Given the description of an element on the screen output the (x, y) to click on. 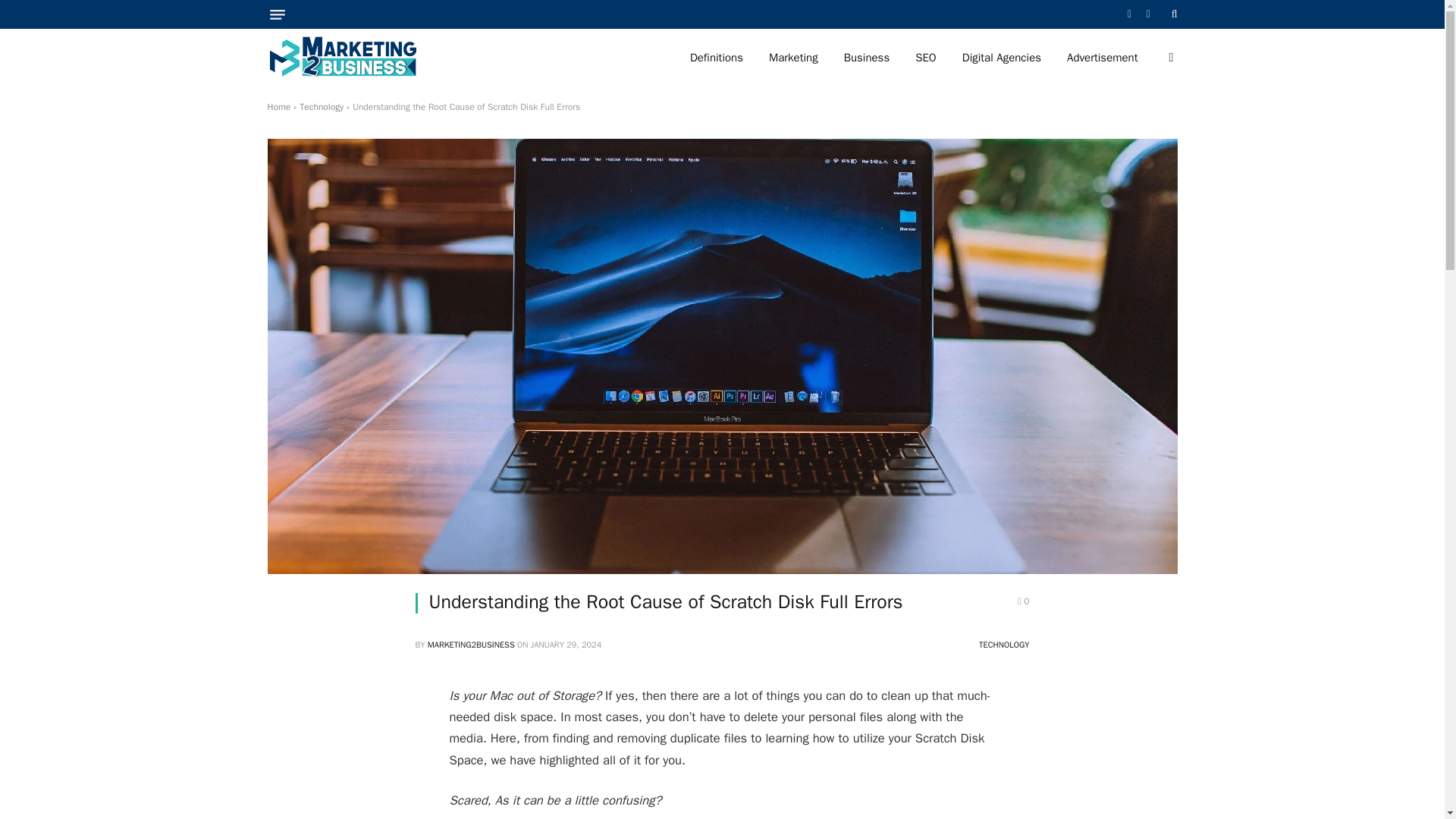
0 (1023, 600)
Technology (321, 106)
MARKETING2BUSINESS (471, 644)
LinkedIn (1148, 14)
Posts by marketing2business (471, 644)
Advertisement (1102, 57)
Marketing2Business (341, 57)
SEO (925, 57)
Digital Agencies (1001, 57)
Business (866, 57)
Home (277, 106)
TECHNOLOGY (1003, 644)
Switch to Dark Design - easier on eyes. (1168, 57)
Definitions (716, 57)
